Given the description of an element on the screen output the (x, y) to click on. 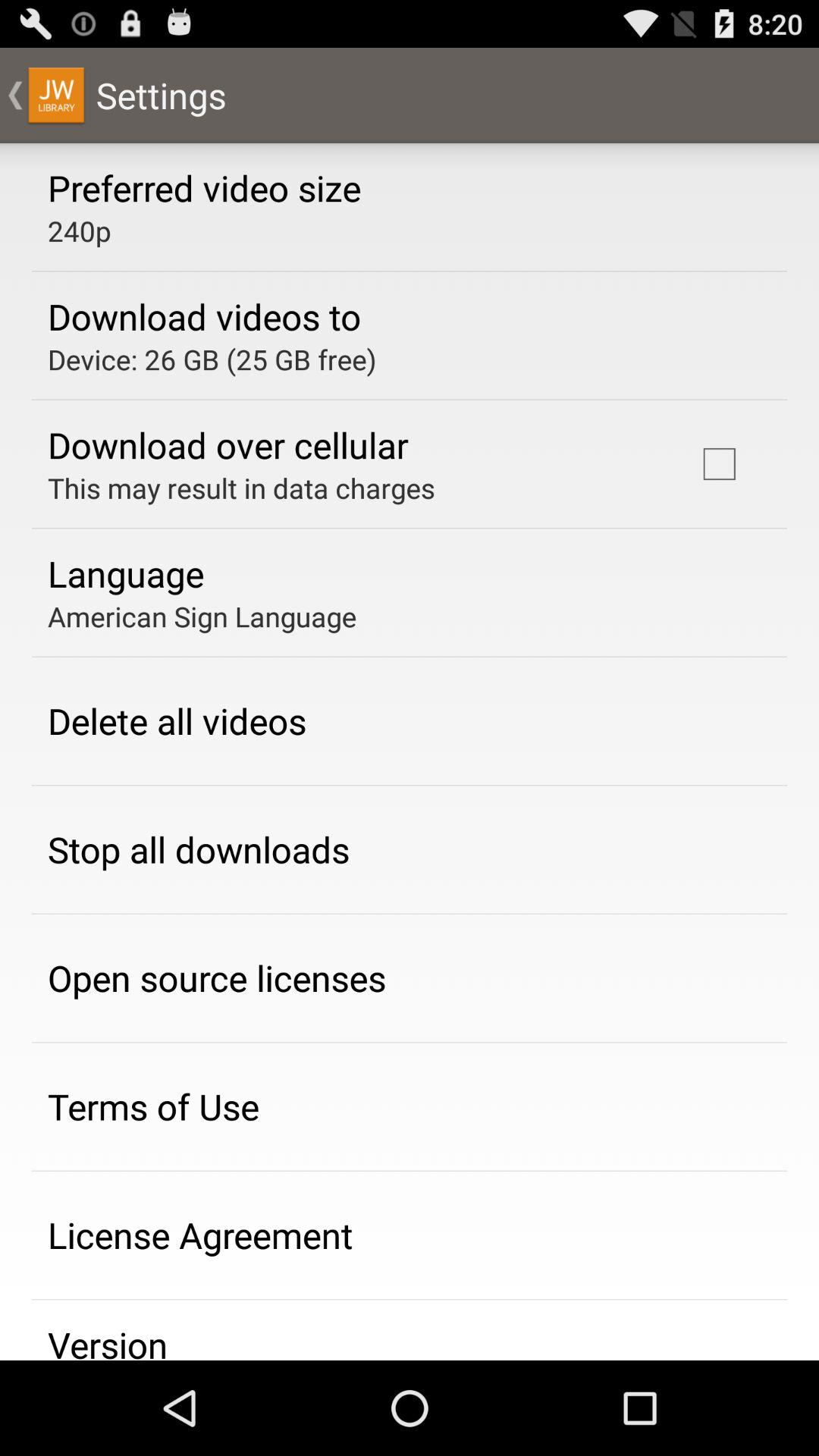
scroll to download over cellular app (227, 444)
